Given the description of an element on the screen output the (x, y) to click on. 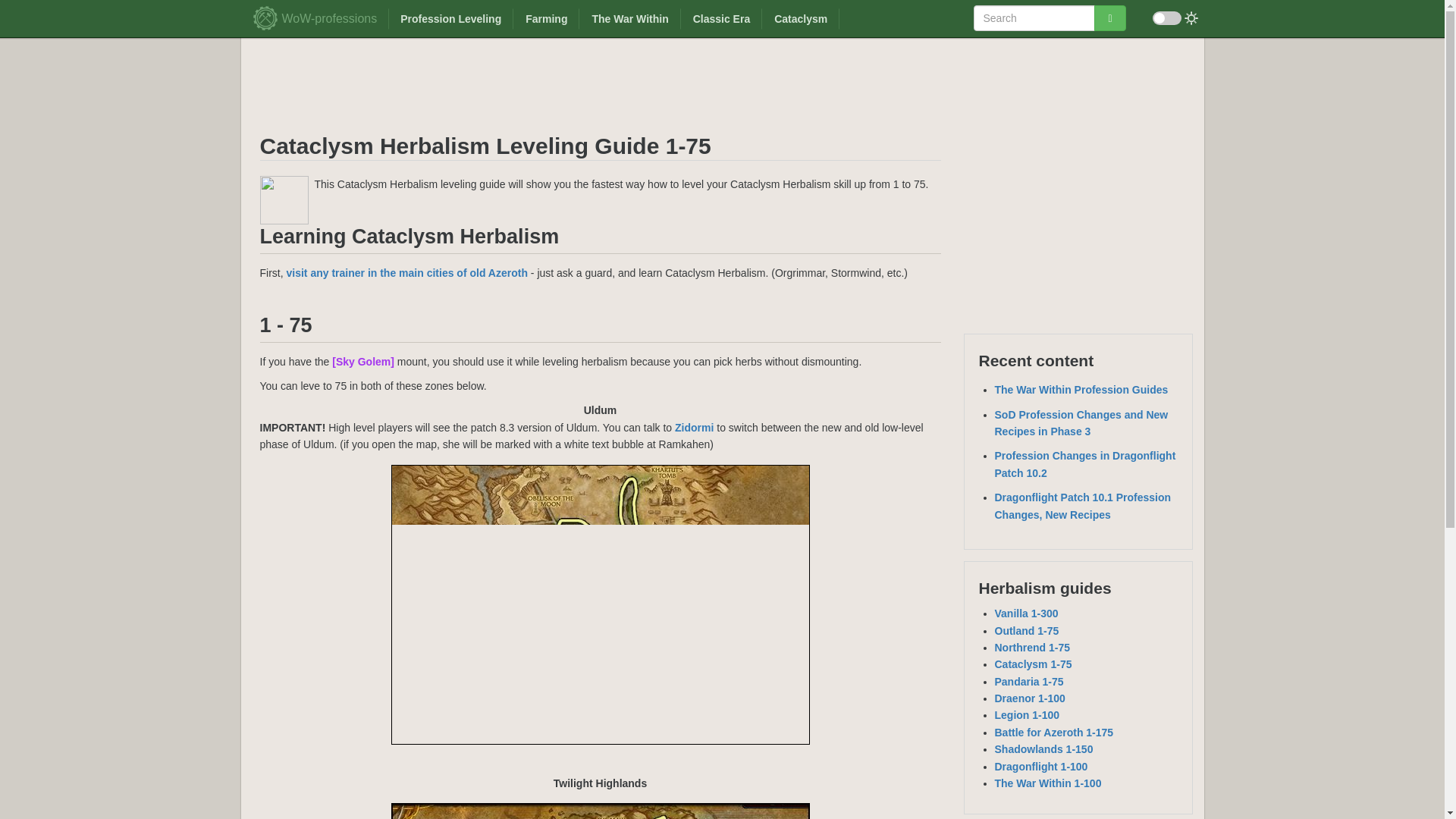
Vanilla 1-300 (1026, 613)
The War Within Profession Guides (1081, 389)
Dragonflight Patch 10.1 Profession Changes, New Recipes (1083, 505)
Zidormi (694, 427)
Cataclysm 1-75 (1032, 664)
Home (268, 15)
The War Within (629, 18)
Shadowlands 1-150 (1043, 748)
Profession Leveling (450, 18)
SoD Profession Changes and New Recipes in Phase 3 (1081, 422)
